Given the description of an element on the screen output the (x, y) to click on. 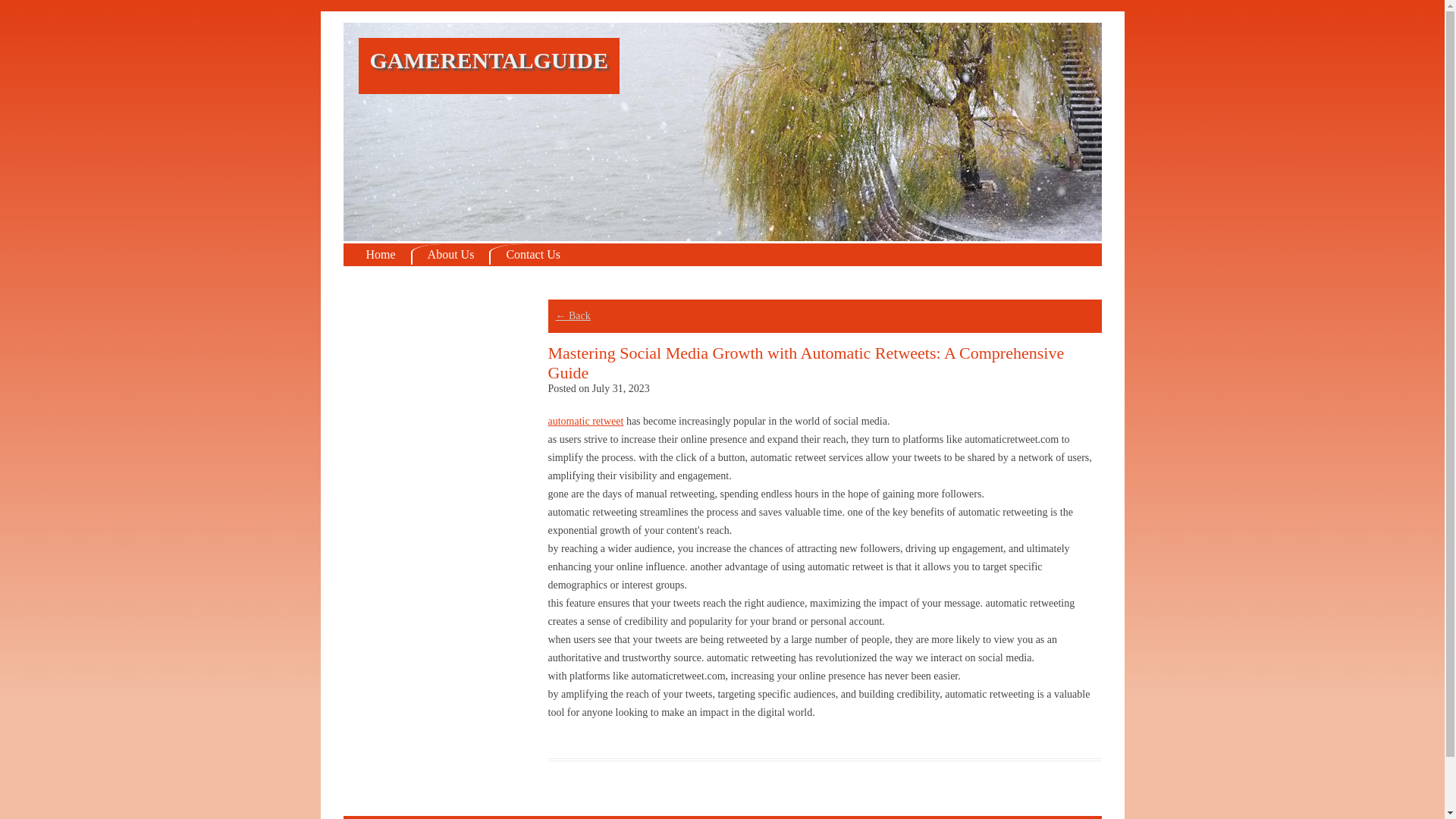
automatic retweet (585, 420)
Skip to secondary content (55, 16)
About Us (449, 254)
Contact Us (532, 254)
Skip to primary content (50, 16)
GAMERENTALGUIDE (488, 59)
Home (380, 254)
